Given the description of an element on the screen output the (x, y) to click on. 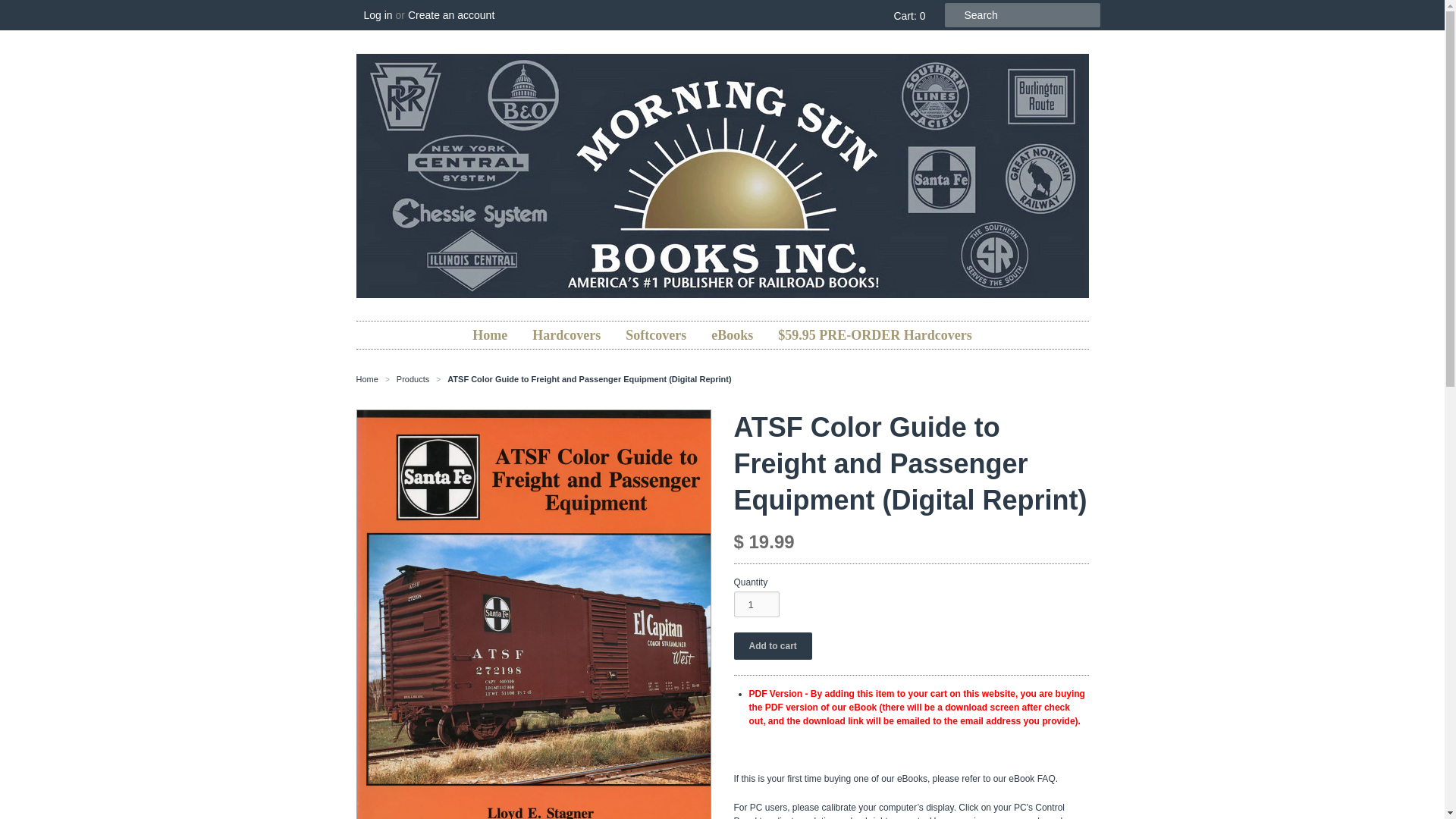
Shopping Cart (906, 15)
Log in (378, 15)
Products (413, 379)
eBook FAQ. (1033, 778)
Add to cart (772, 646)
1 (755, 604)
eBooks (732, 334)
Add to cart (772, 646)
All Products (413, 379)
Home (489, 334)
Home (367, 379)
Create an account (451, 15)
Morning Sun Books (367, 379)
Softcovers (655, 334)
Cart: 0 (906, 15)
